Given the description of an element on the screen output the (x, y) to click on. 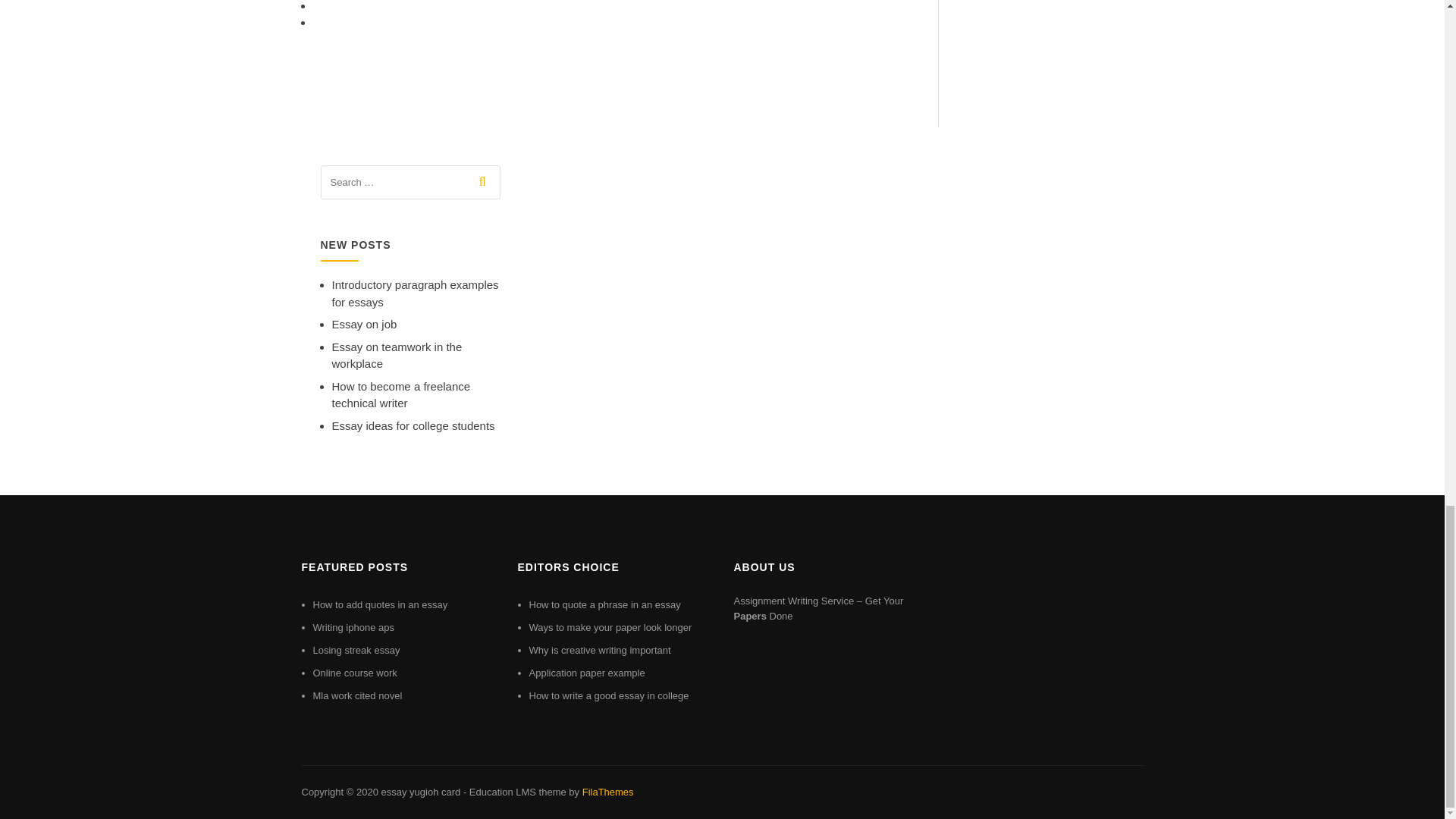
essay yugioh card (420, 791)
How to add quotes in an essay (379, 604)
Why is creative writing important (600, 650)
Losing streak essay (355, 650)
essay yugioh card (420, 791)
Ways to make your paper look longer (611, 627)
Essay ideas for college students (413, 425)
How to write a good essay in college (608, 695)
Essay on job (364, 323)
Essay on teamwork in the workplace (397, 355)
Online course work (354, 672)
Mla work cited novel (357, 695)
Introductory paragraph examples for essays (415, 293)
How to quote a phrase in an essay (605, 604)
How to become a freelance technical writer (400, 395)
